Given the description of an element on the screen output the (x, y) to click on. 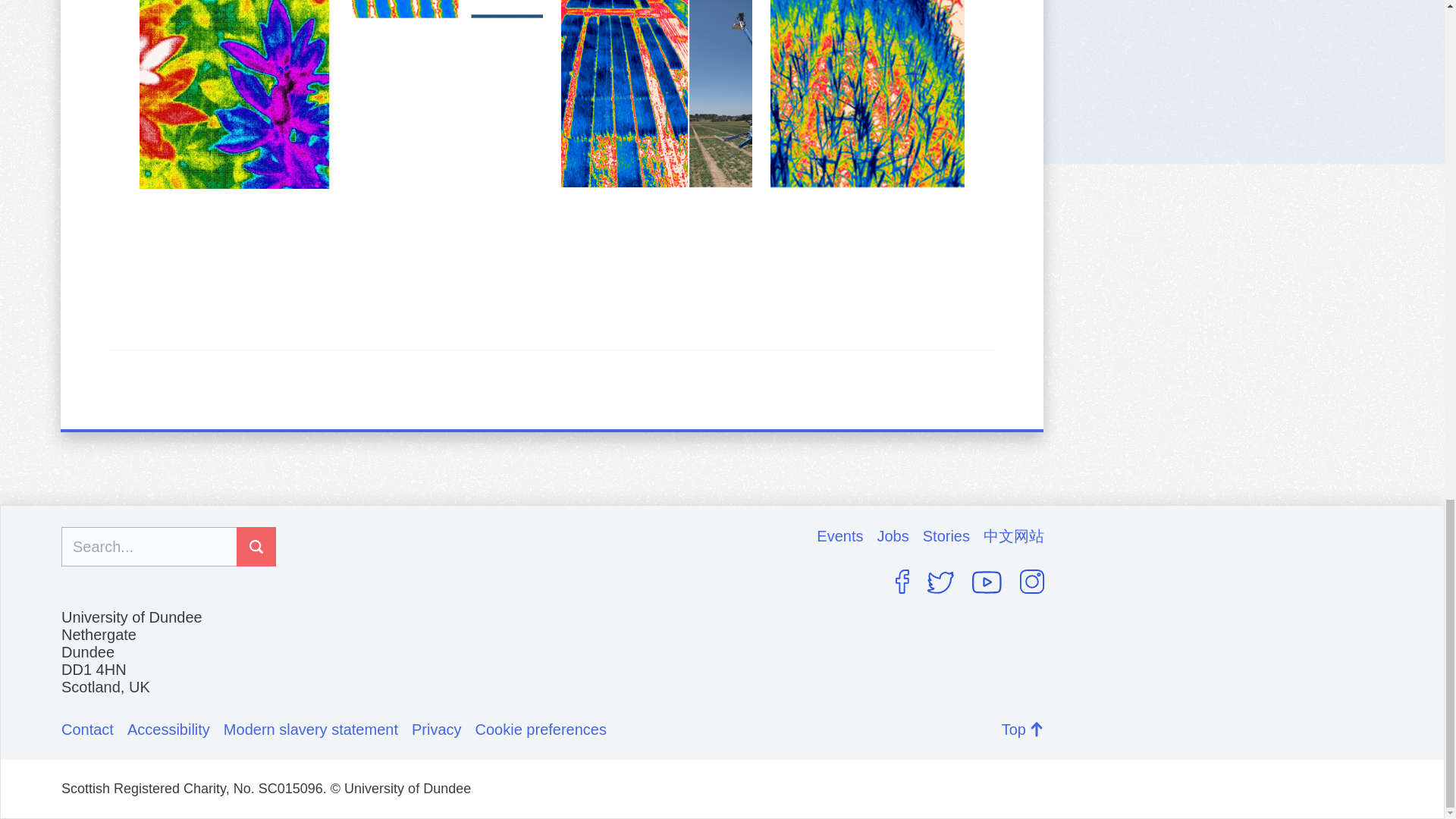
Twitter (940, 582)
Find events that are happening at the University of Dundee (846, 536)
Explore our Chinese language website  (1013, 536)
Instagram (1031, 581)
Youtube (986, 581)
